Given the description of an element on the screen output the (x, y) to click on. 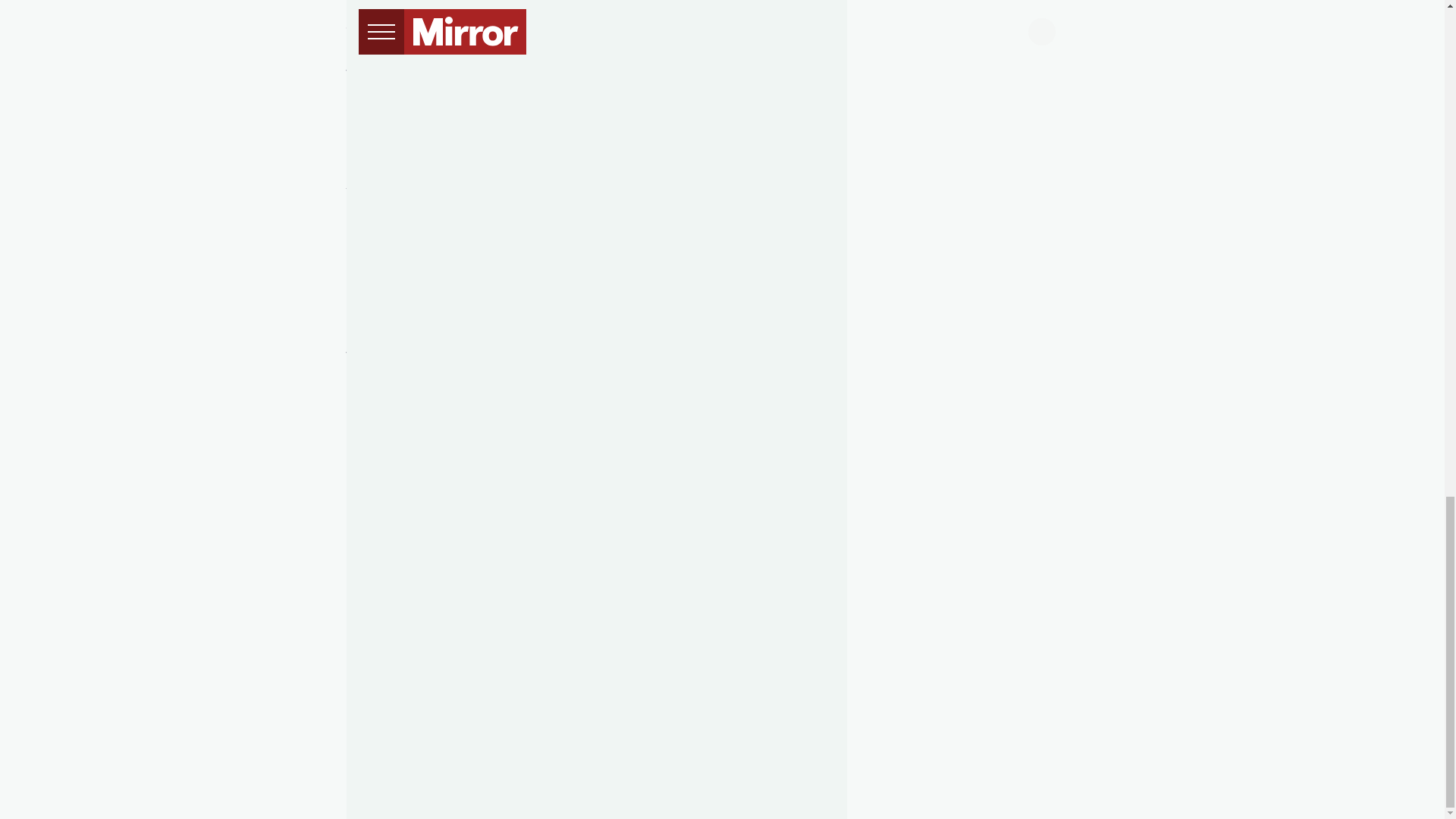
Monarch: Legacy of Monsters (592, 90)
seven-day free trial (608, 72)
sign up today (447, 53)
Masters of the Air (554, 108)
Killers of the Flower Moon (619, 126)
